Given the description of an element on the screen output the (x, y) to click on. 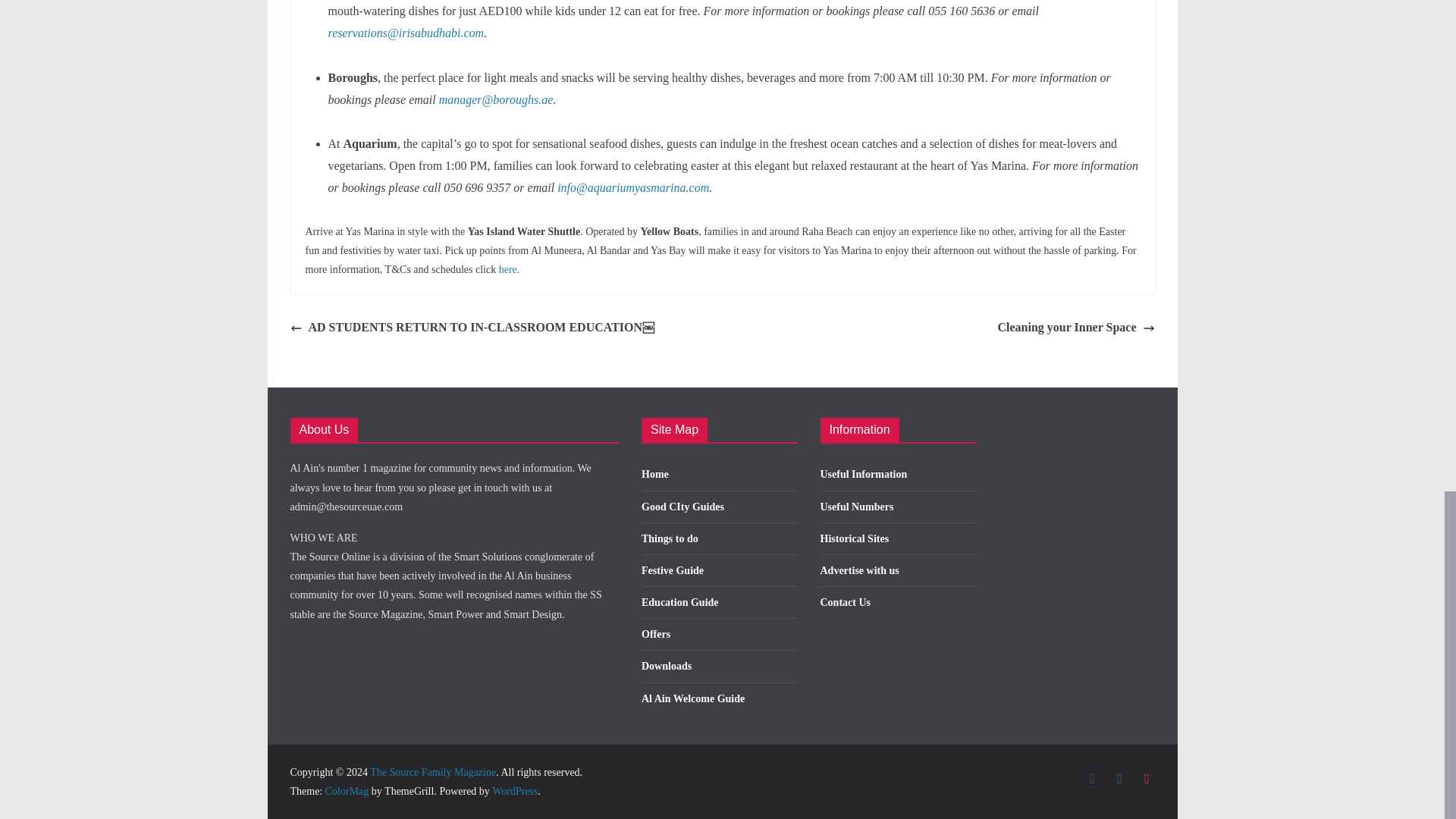
Education Guide (680, 602)
Cleaning your Inner Space (1075, 327)
ColorMag (346, 790)
Things to do (670, 538)
here (507, 269)
Home (655, 473)
Festive Guide (672, 570)
Good CIty Guides (682, 506)
The Source Family Magazine (432, 772)
Offers (655, 633)
